Given the description of an element on the screen output the (x, y) to click on. 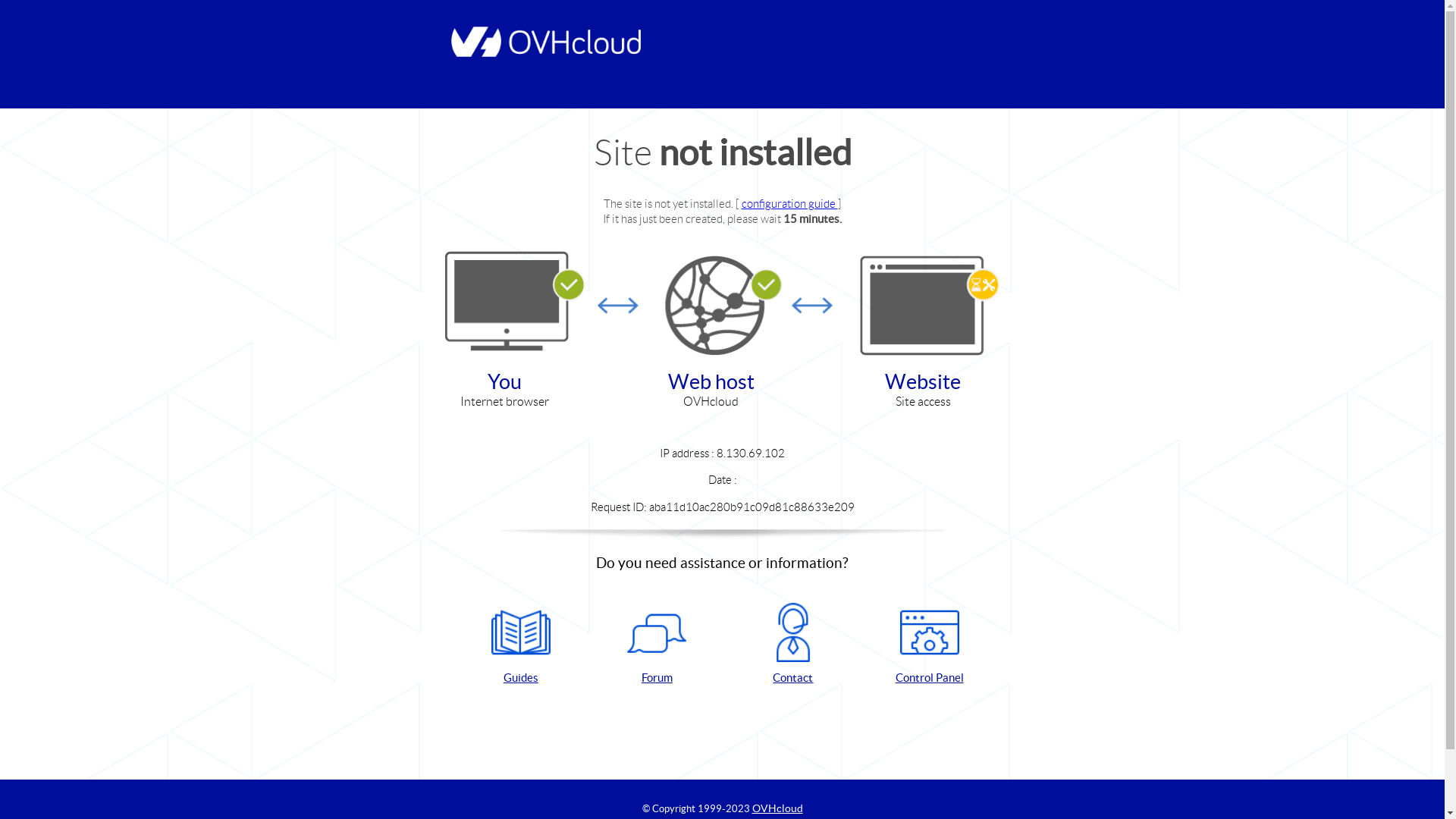
Contact Element type: text (792, 644)
OVHcloud Element type: text (777, 808)
Forum Element type: text (656, 644)
Guides Element type: text (520, 644)
Control Panel Element type: text (929, 644)
configuration guide Element type: text (789, 203)
